Given the description of an element on the screen output the (x, y) to click on. 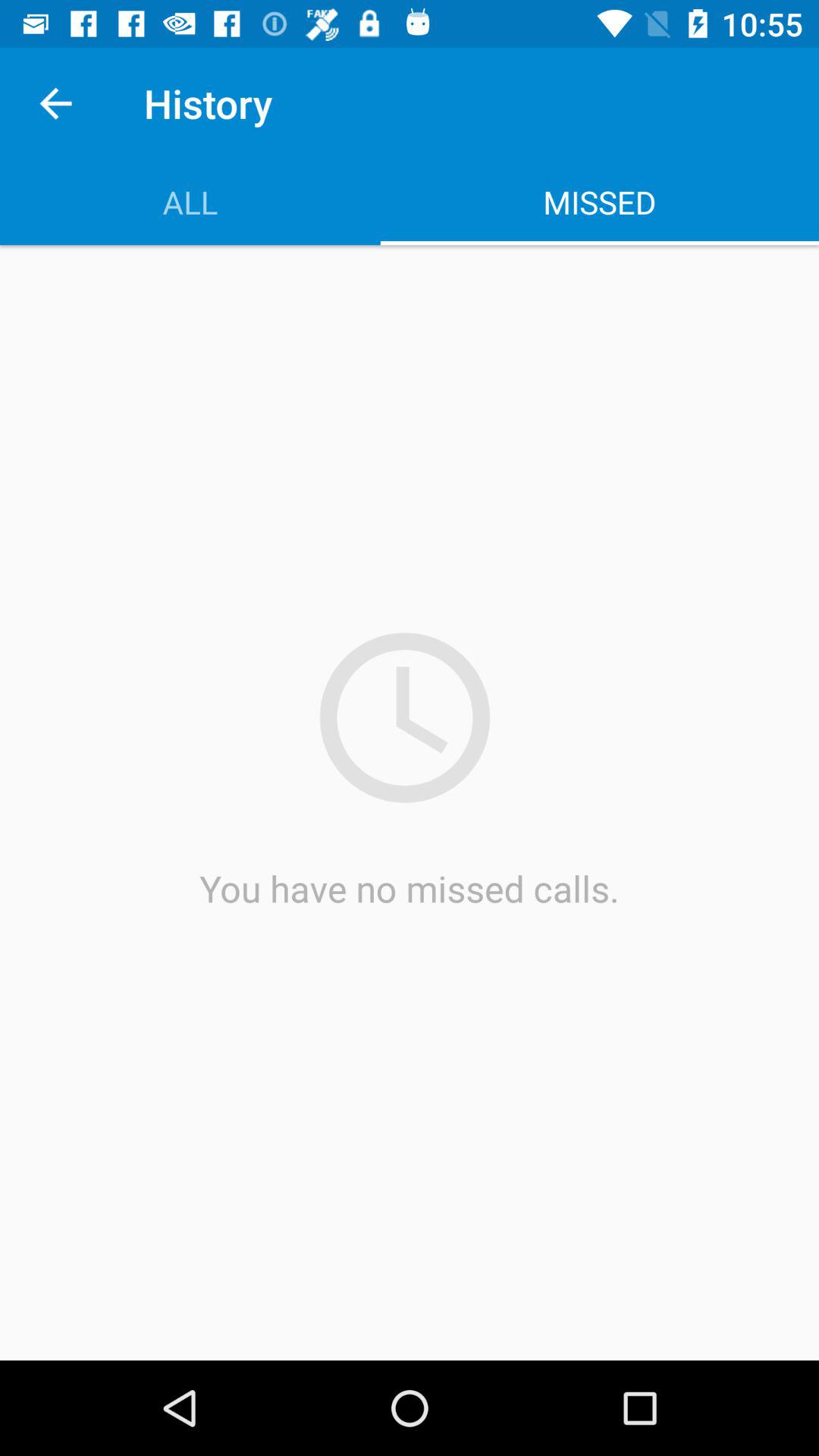
click the icon next to missed (190, 202)
